Given the description of an element on the screen output the (x, y) to click on. 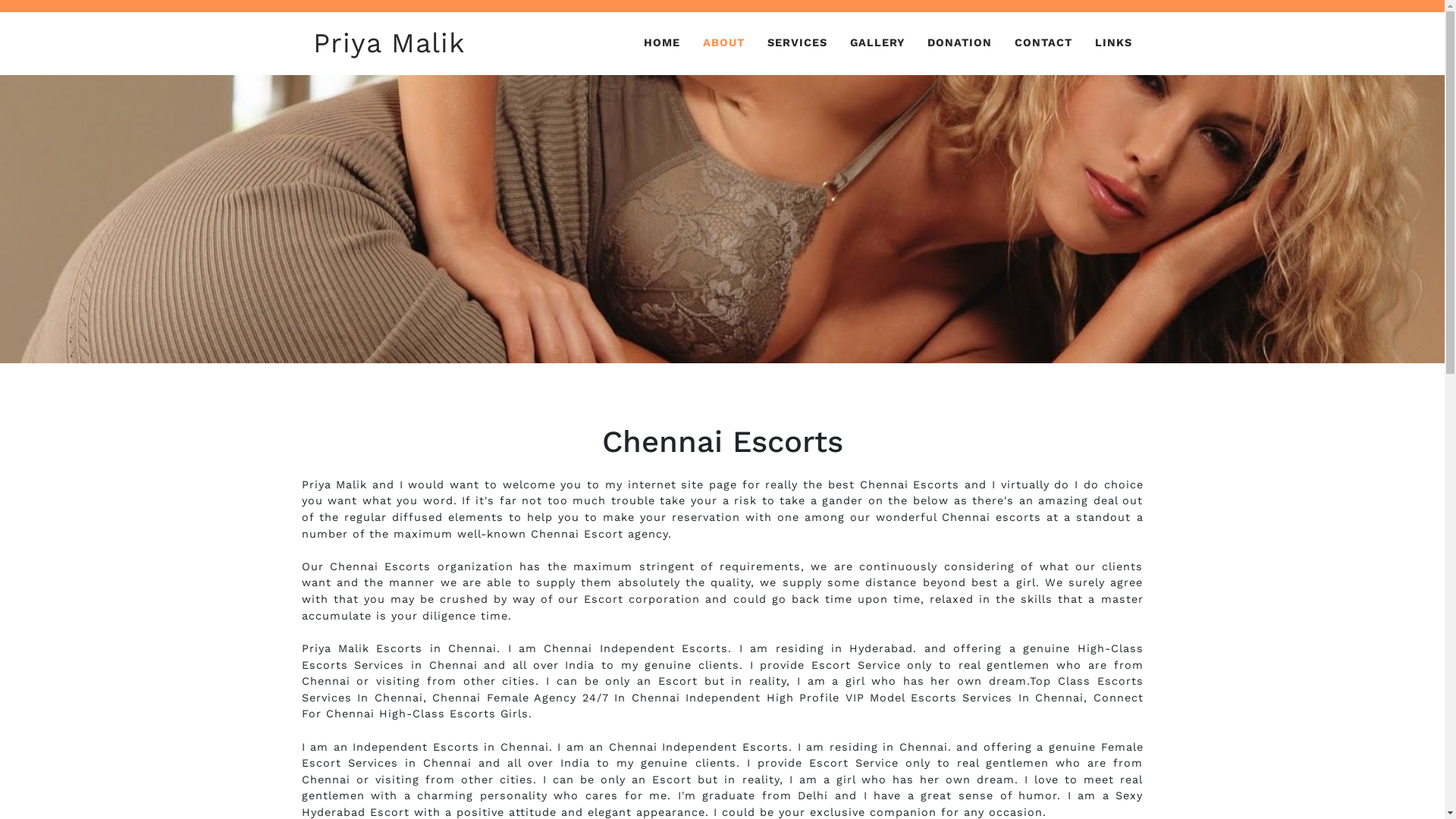
CONTACT Element type: text (1042, 42)
GALLERY Element type: text (877, 42)
LINKS Element type: text (1112, 42)
HOME Element type: text (661, 42)
ABOUT Element type: text (723, 42)
DONATION Element type: text (959, 42)
Priya Malik Element type: text (388, 43)
SERVICES Element type: text (796, 42)
